Given the description of an element on the screen output the (x, y) to click on. 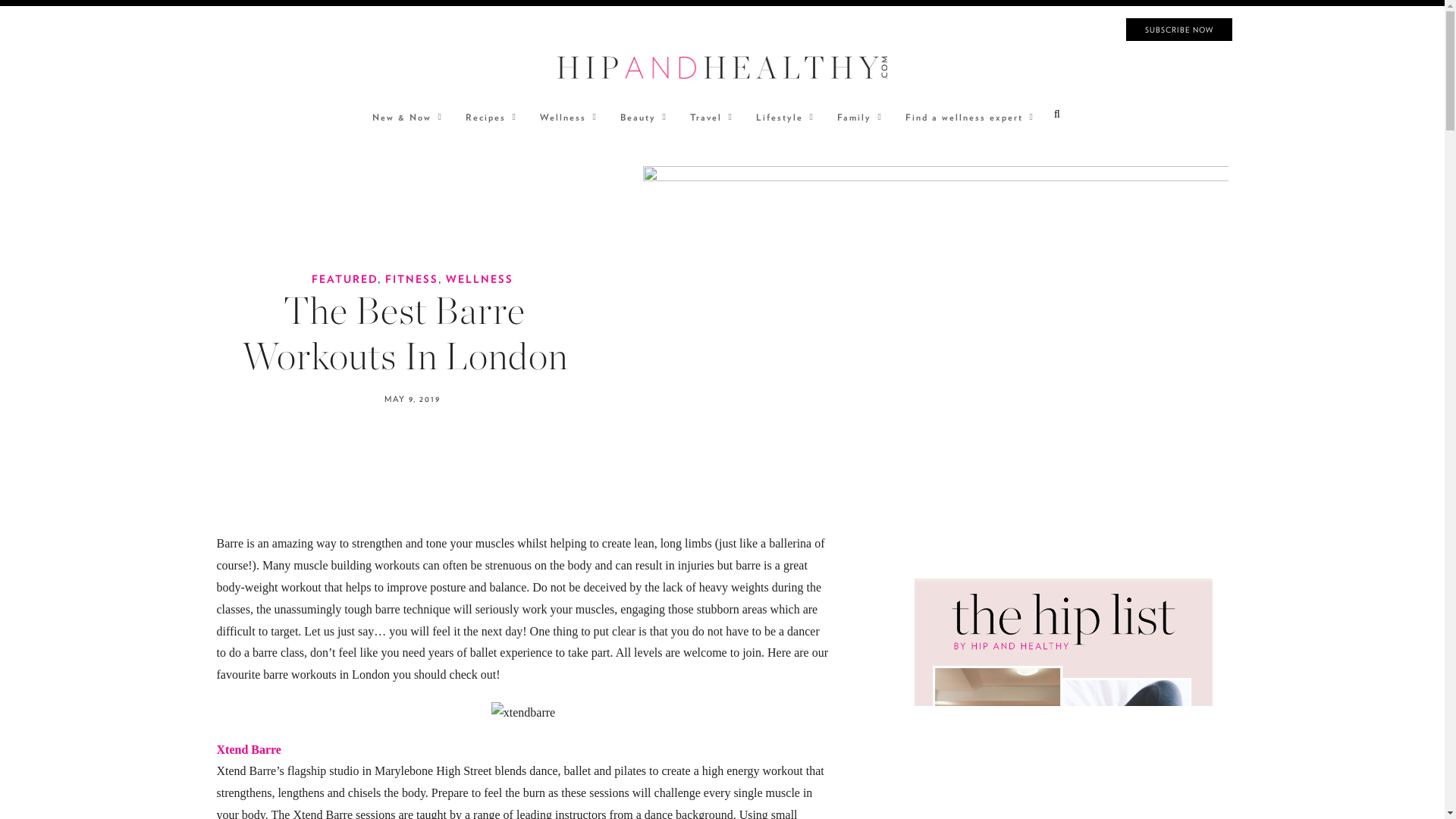
View all posts in Fitness (411, 278)
Travel (708, 117)
Recipes (486, 117)
Wellness (564, 117)
SUBSCRIBE NOW (1178, 29)
View all posts in Wellness (479, 278)
View all posts in Featured (344, 278)
Beauty (640, 117)
